Given the description of an element on the screen output the (x, y) to click on. 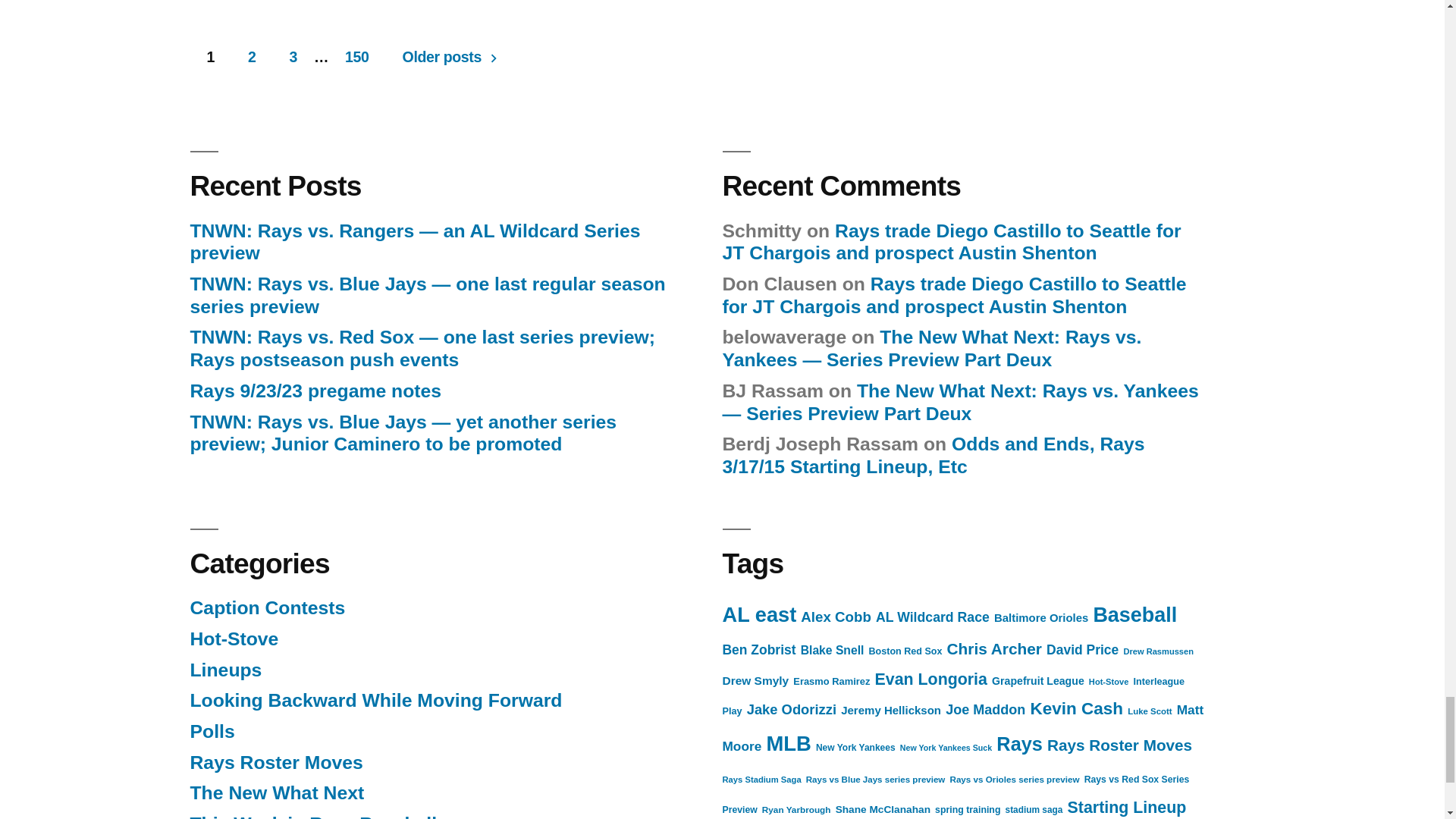
Series previews etc. (276, 792)
